Given the description of an element on the screen output the (x, y) to click on. 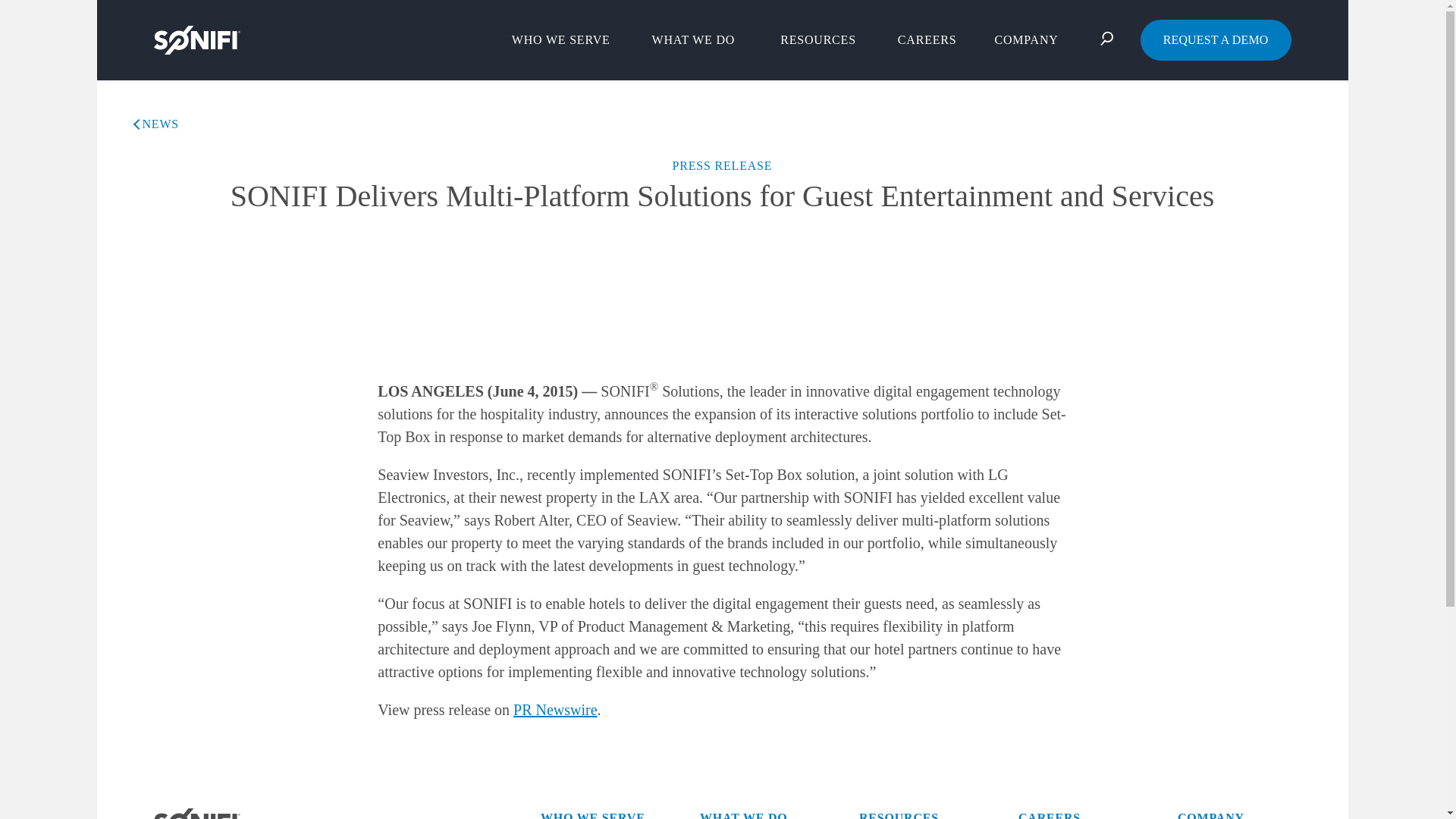
CAREERS (927, 39)
WHAT WE DO (697, 39)
RESOURCES (817, 39)
PRESS RELEASE (721, 166)
COMPANY (1029, 39)
PR Newswire (554, 709)
REQUEST A DEMO (1215, 39)
WHO WE SERVE (564, 39)
SEARCH (1110, 39)
NEWS (157, 124)
